Given the description of an element on the screen output the (x, y) to click on. 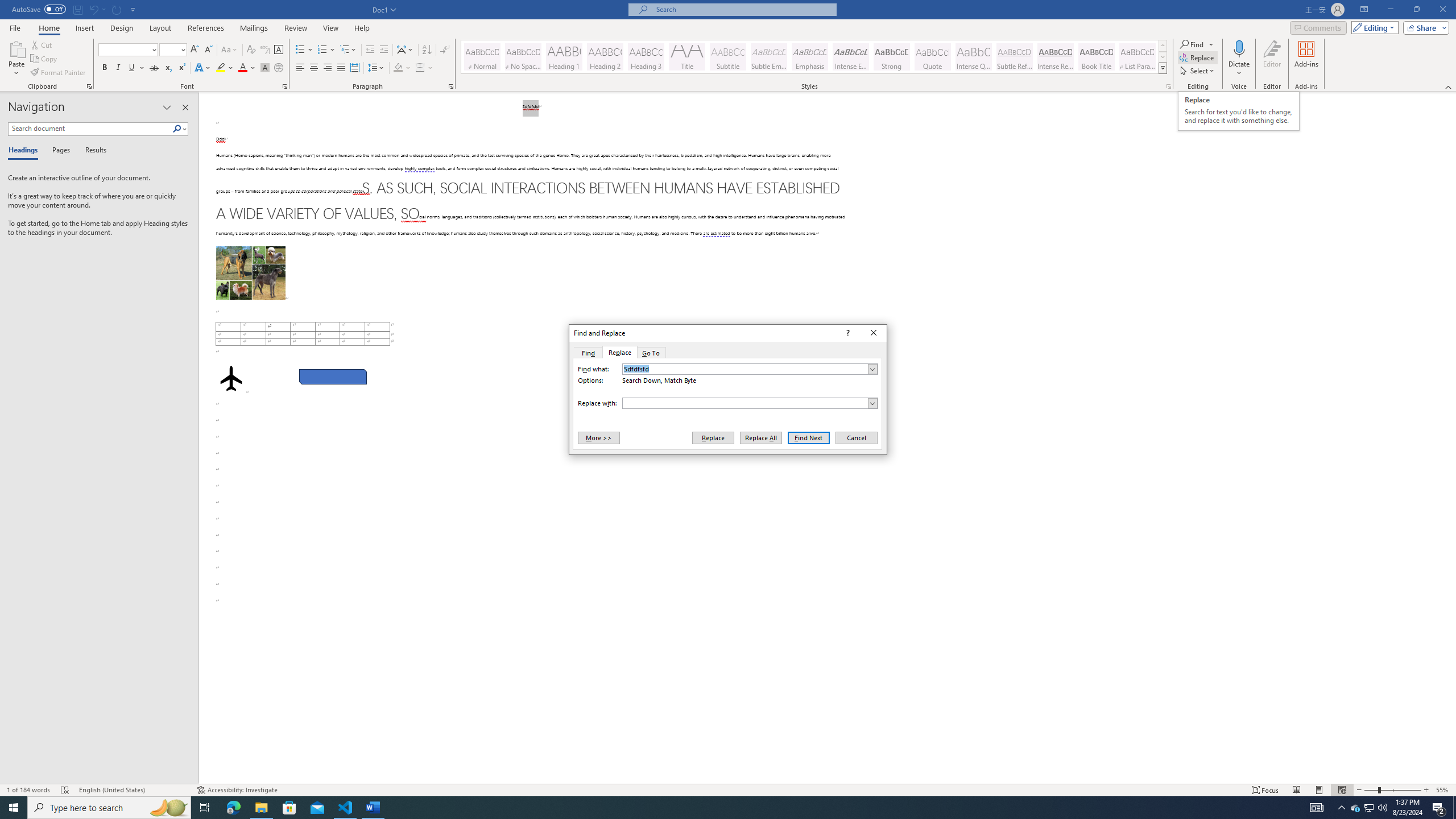
Show/Hide Editing Marks (444, 49)
Line and Paragraph Spacing (376, 67)
Start (13, 807)
Quote (932, 56)
Copy (45, 58)
Go To (651, 352)
Distributed (354, 67)
Intense Quote (973, 56)
File Explorer - 1 running window (261, 807)
